Given the description of an element on the screen output the (x, y) to click on. 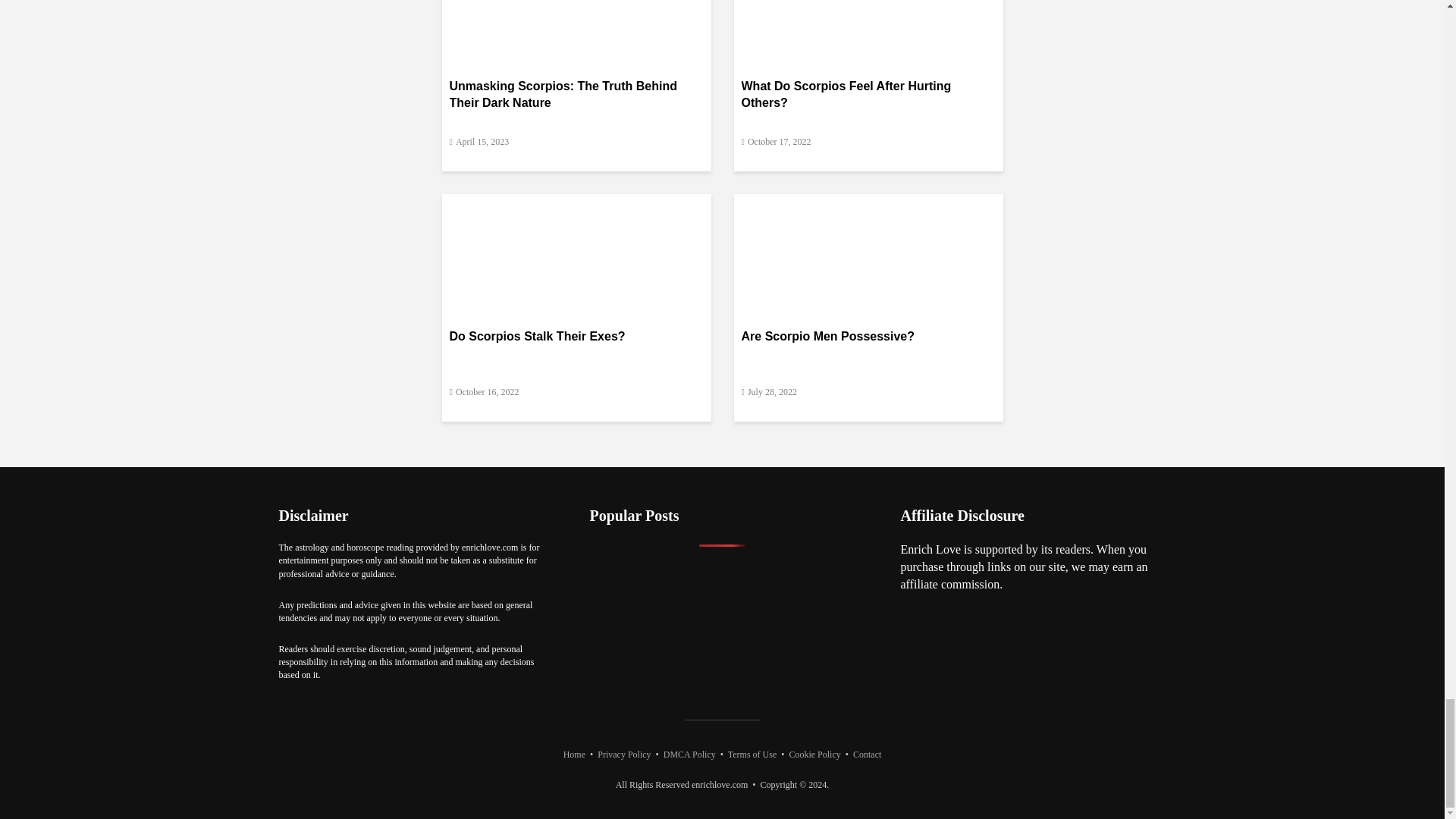
Are Scorpio Men Possessive? (868, 250)
Do Scorpios Stalk Their Exes? (575, 250)
Unmasking Scorpios: The Truth Behind Their Dark Nature (575, 3)
What Do Scorpios Feel After Hurting Others? (868, 3)
